Given the description of an element on the screen output the (x, y) to click on. 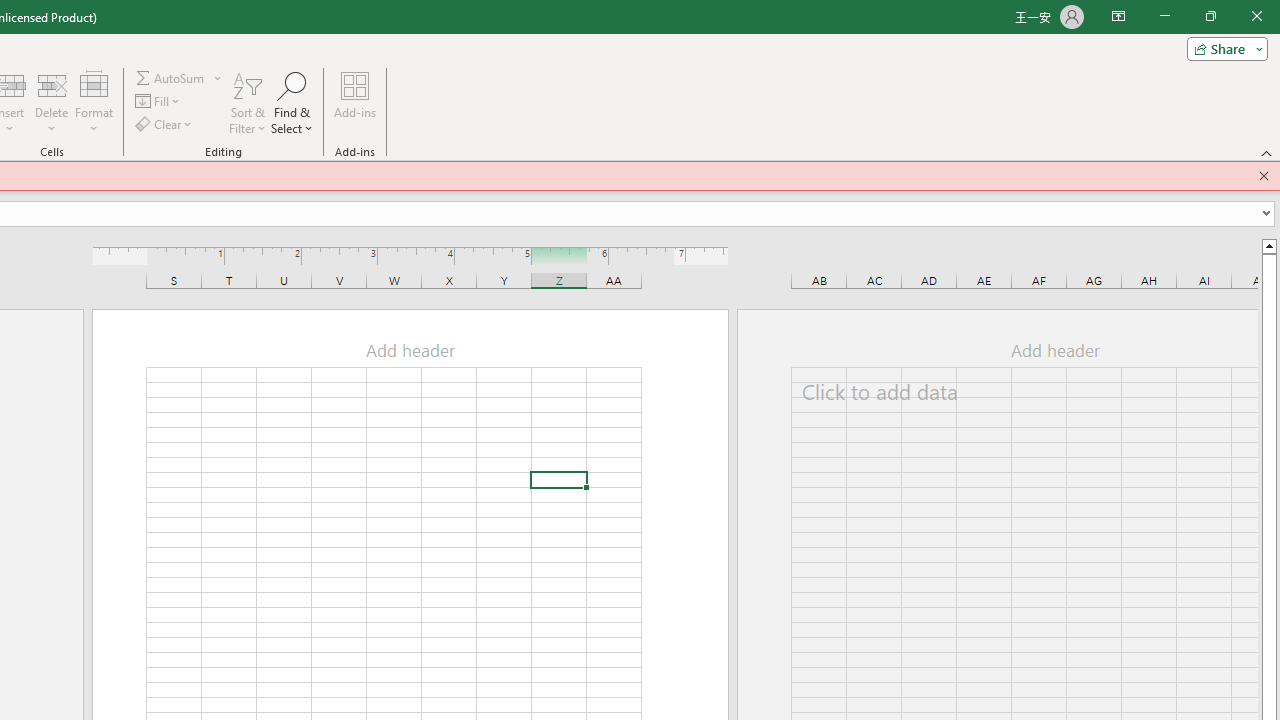
Delete Cells... (51, 84)
Delete (51, 102)
Close this message (1263, 176)
